Given the description of an element on the screen output the (x, y) to click on. 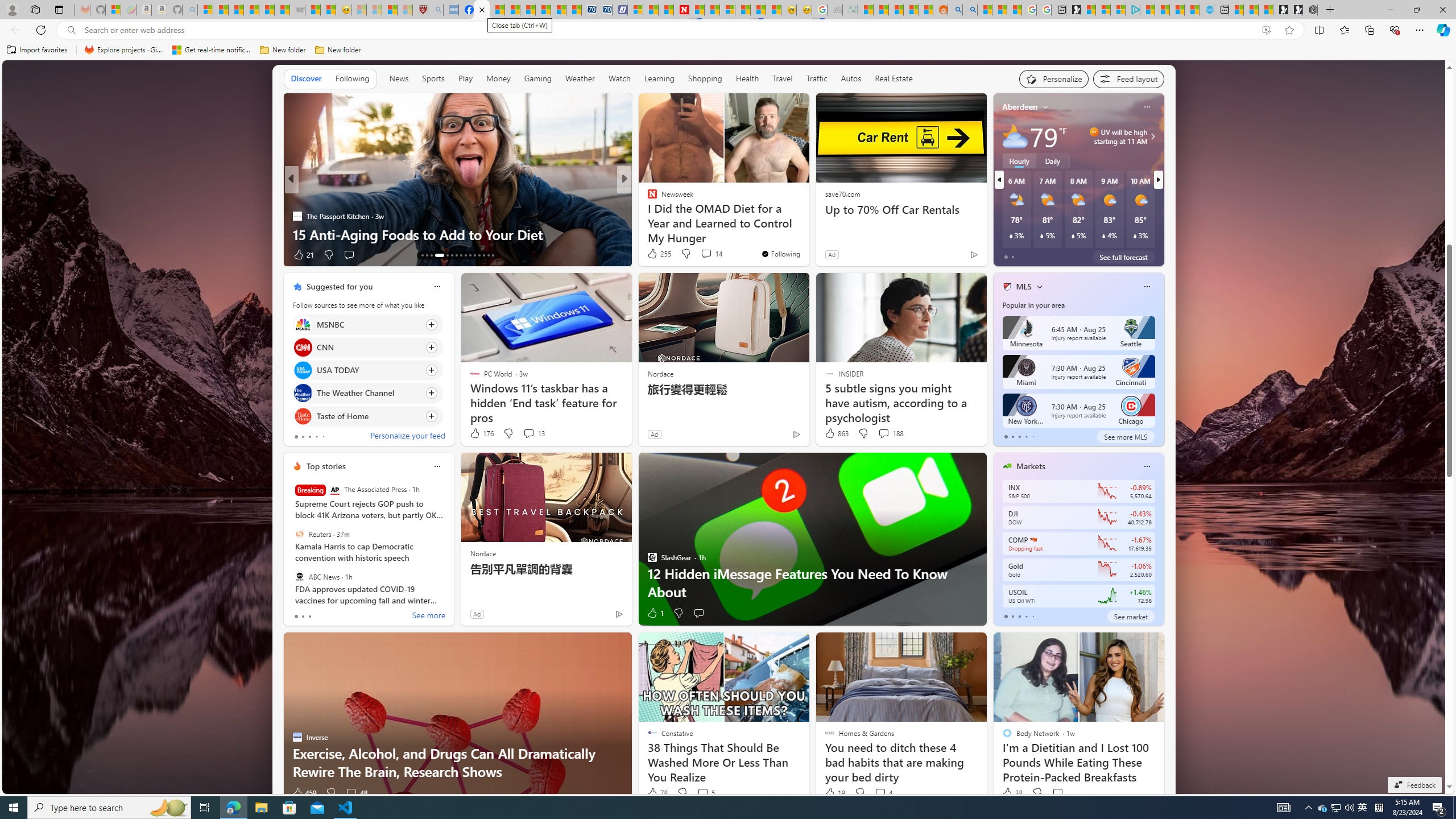
View comments 48 Comment (350, 792)
Traffic (816, 79)
View comments 2 Comment (6, 254)
Learning (659, 79)
639 Like (654, 254)
